Given the description of an element on the screen output the (x, y) to click on. 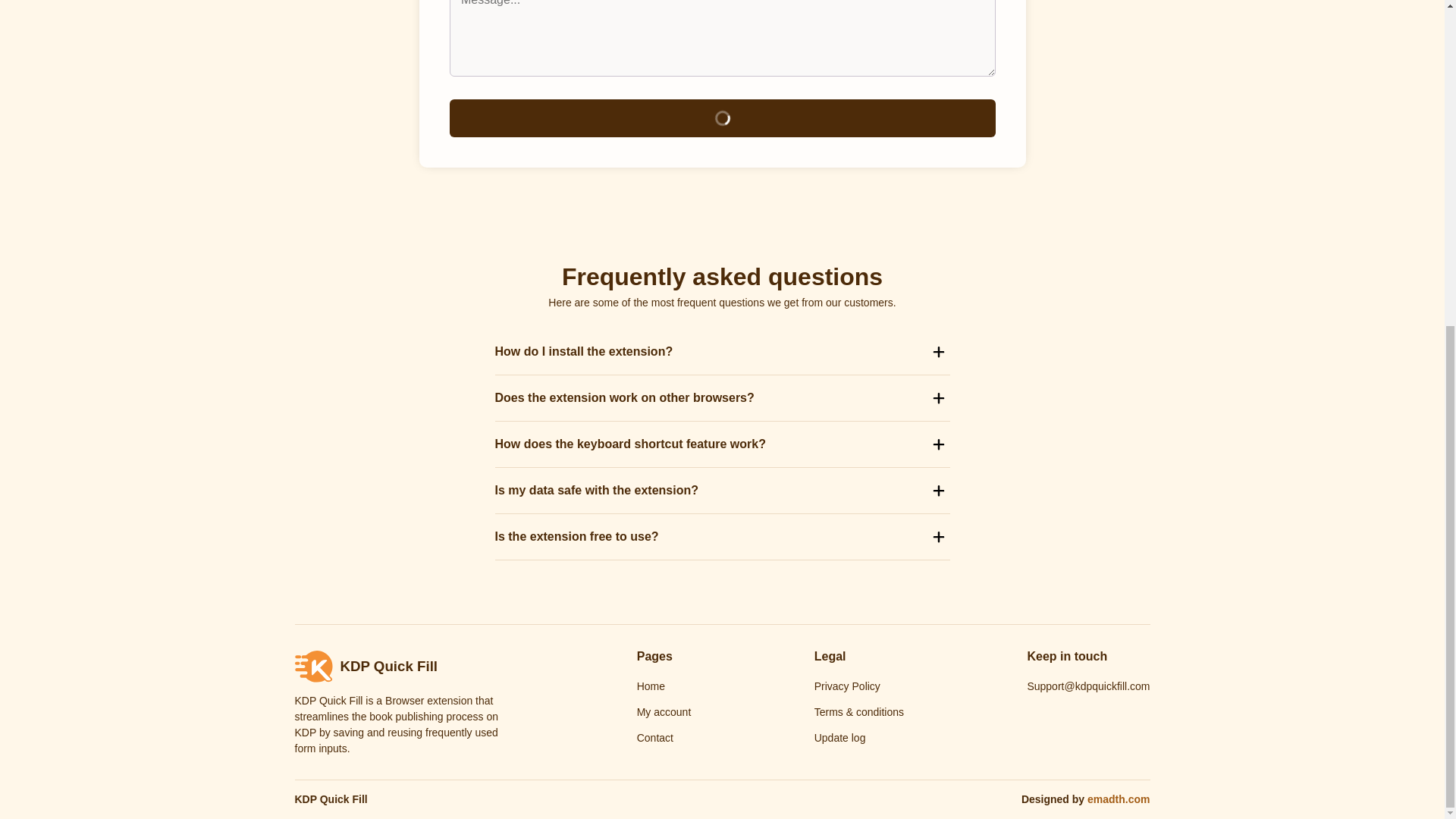
My account (664, 711)
Update log (839, 737)
Submit (721, 118)
Home (651, 686)
Pages (654, 656)
Legal (829, 656)
emadth.com (1118, 799)
Contact (654, 737)
Privacy Policy (846, 686)
Keep in touch (1066, 656)
